Given the description of an element on the screen output the (x, y) to click on. 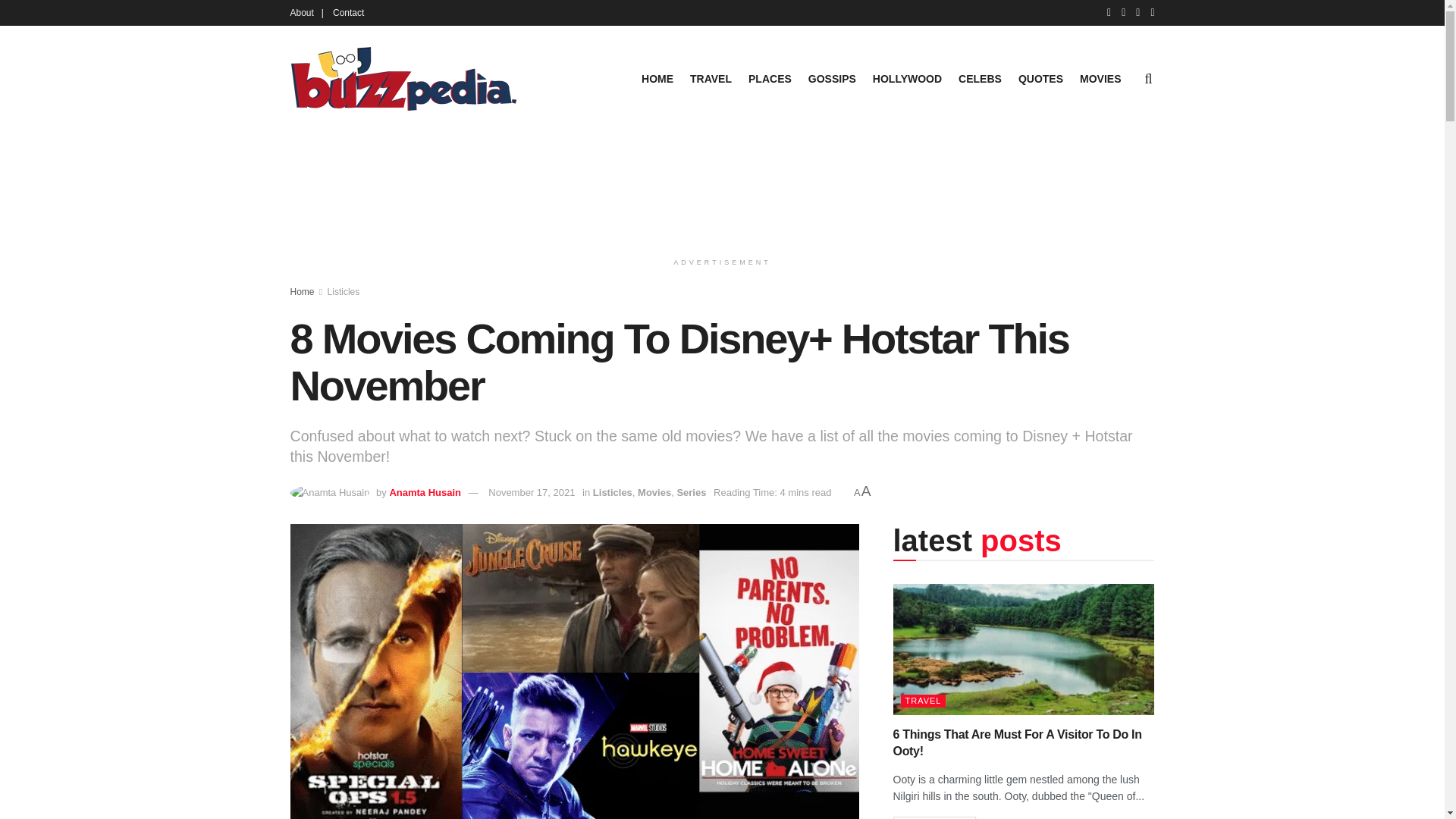
HOLLYWOOD (907, 78)
Listicles (343, 291)
GOSSIPS (832, 78)
Series (691, 491)
Anamta Husain (424, 491)
PLACES (770, 78)
Movies (654, 491)
HOME (657, 78)
MOVIES (1100, 78)
TRAVEL (711, 78)
